Given the description of an element on the screen output the (x, y) to click on. 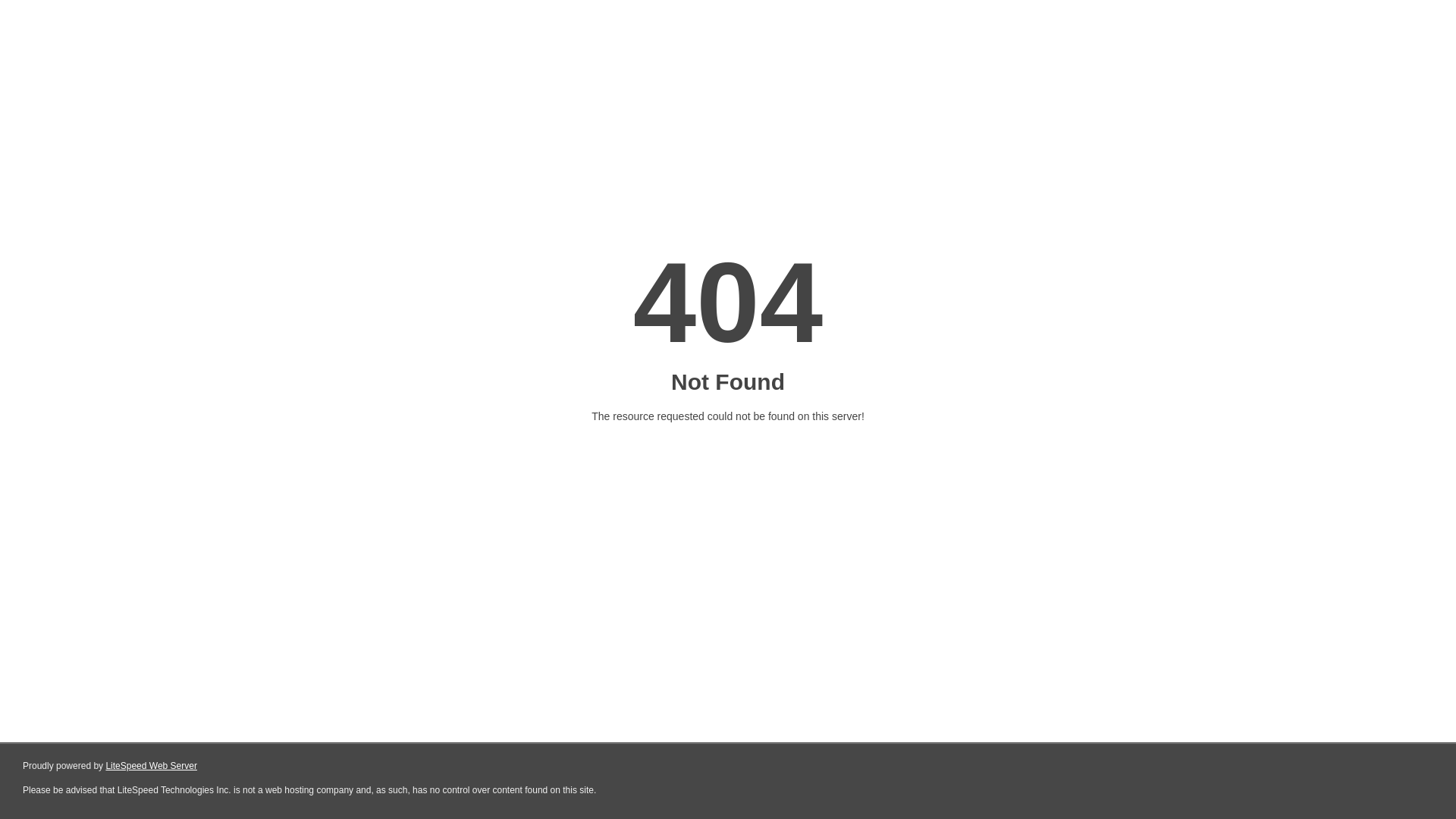
LiteSpeed Web Server Element type: text (151, 765)
